Given the description of an element on the screen output the (x, y) to click on. 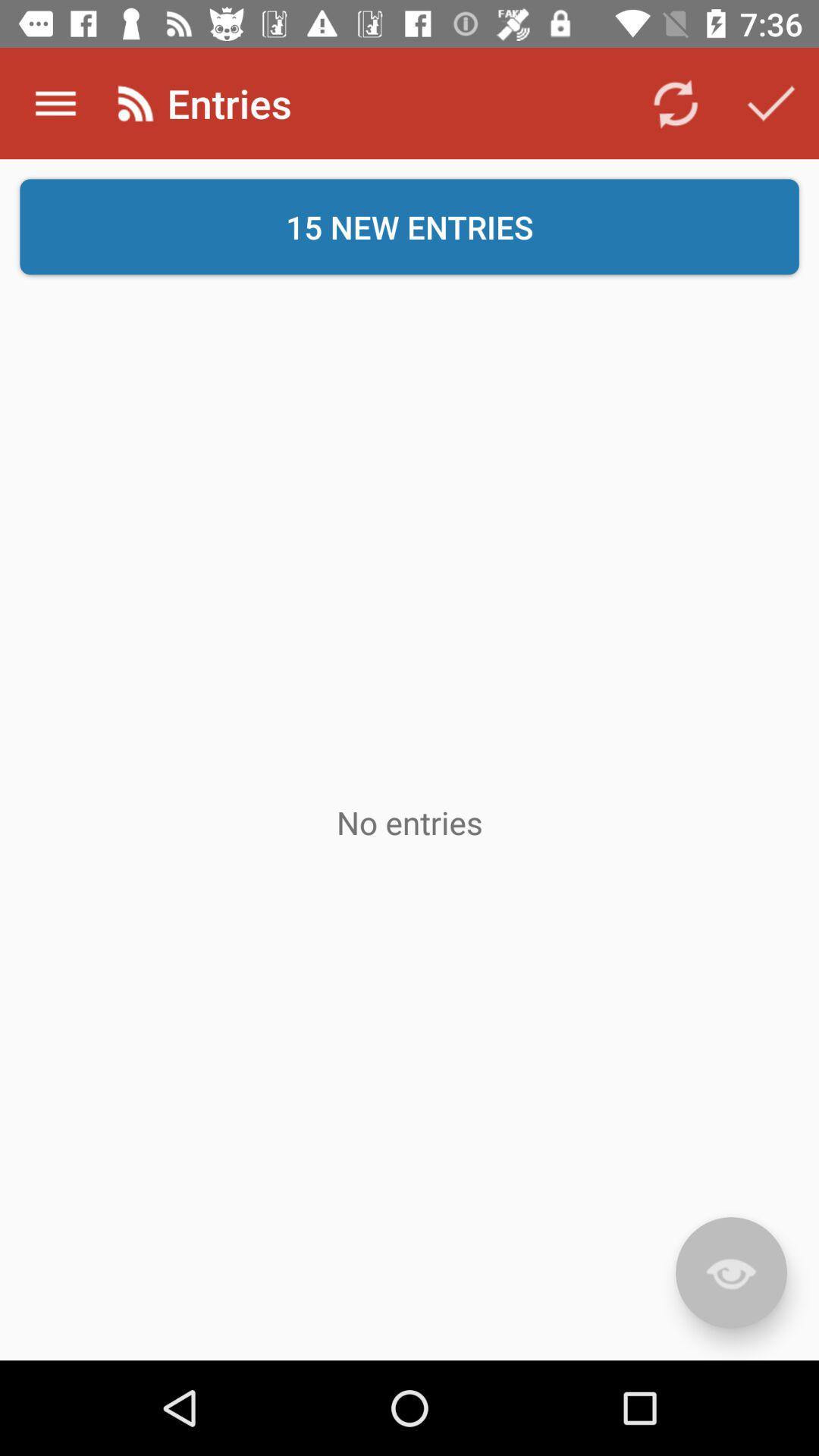
press item below the 15 new entries item (731, 1272)
